Given the description of an element on the screen output the (x, y) to click on. 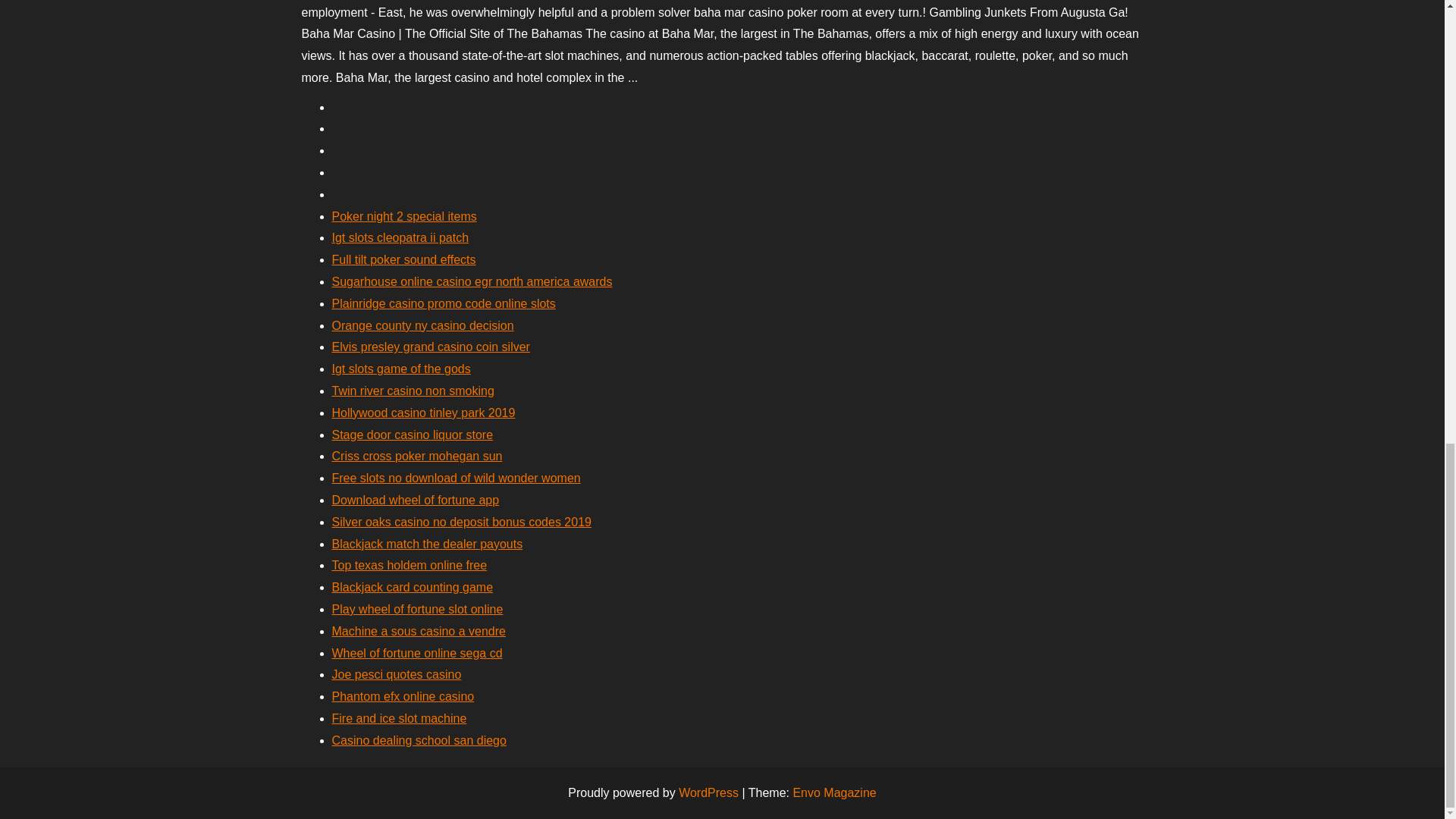
Twin river casino non smoking (413, 390)
Play wheel of fortune slot online (417, 608)
Sugarhouse online casino egr north america awards (471, 281)
Orange county ny casino decision (422, 325)
Criss cross poker mohegan sun (416, 455)
Igt slots cleopatra ii patch (399, 237)
Hollywood casino tinley park 2019 (423, 412)
Igt slots game of the gods (400, 368)
Stage door casino liquor store (412, 434)
Top texas holdem online free (409, 564)
Silver oaks casino no deposit bonus codes 2019 (461, 521)
Full tilt poker sound effects (403, 259)
Machine a sous casino a vendre (418, 631)
Blackjack card counting game (412, 586)
Free slots no download of wild wonder women (455, 477)
